Given the description of an element on the screen output the (x, y) to click on. 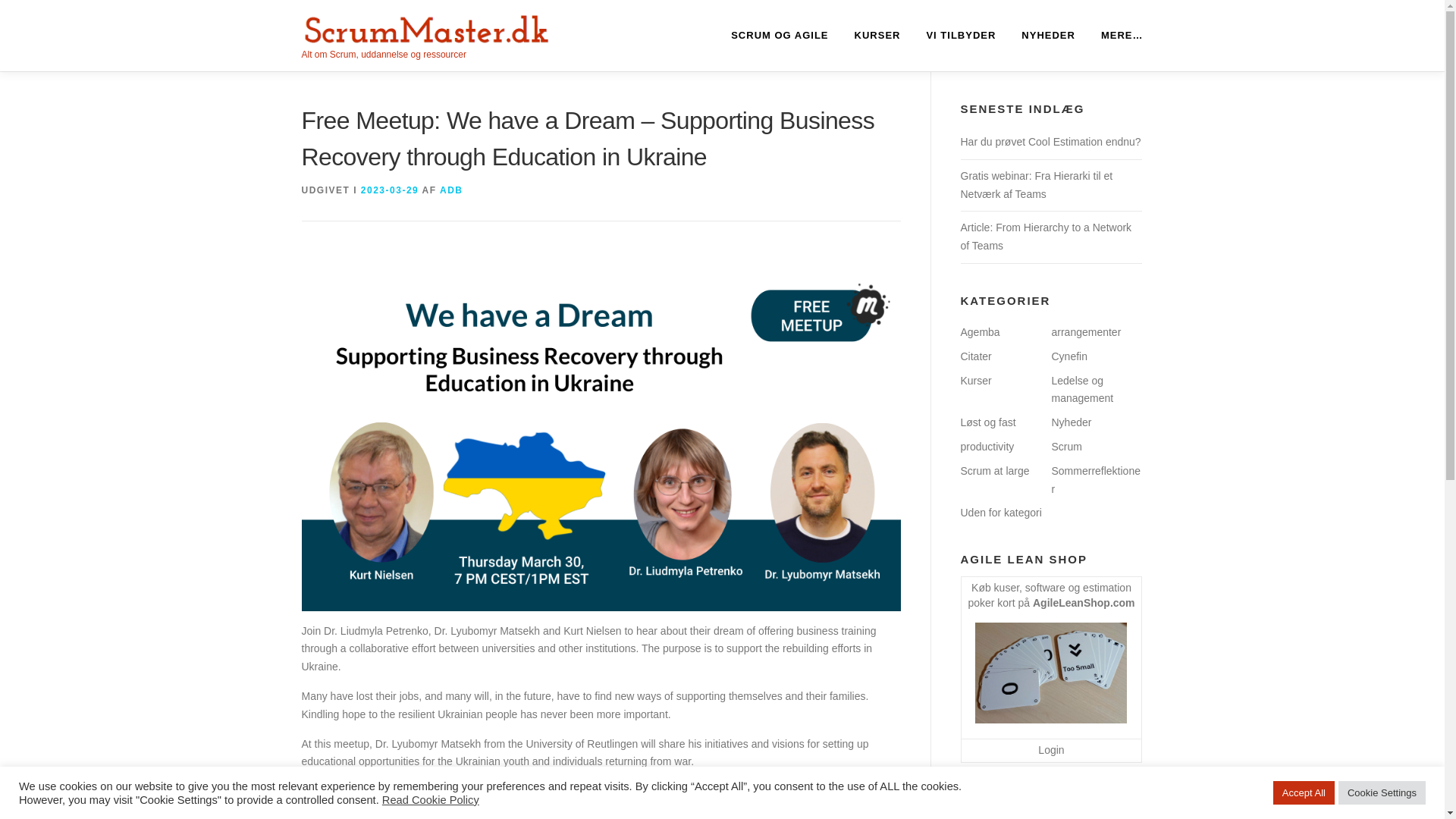
NYHEDER (1048, 35)
SCRUM OG AGILE (779, 35)
KURSER (877, 35)
ADB (451, 190)
Article: From Hierarchy to a Network of Teams (1045, 236)
Agemba (978, 331)
VI TILBYDER (960, 35)
2023-03-29 (390, 190)
